Given the description of an element on the screen output the (x, y) to click on. 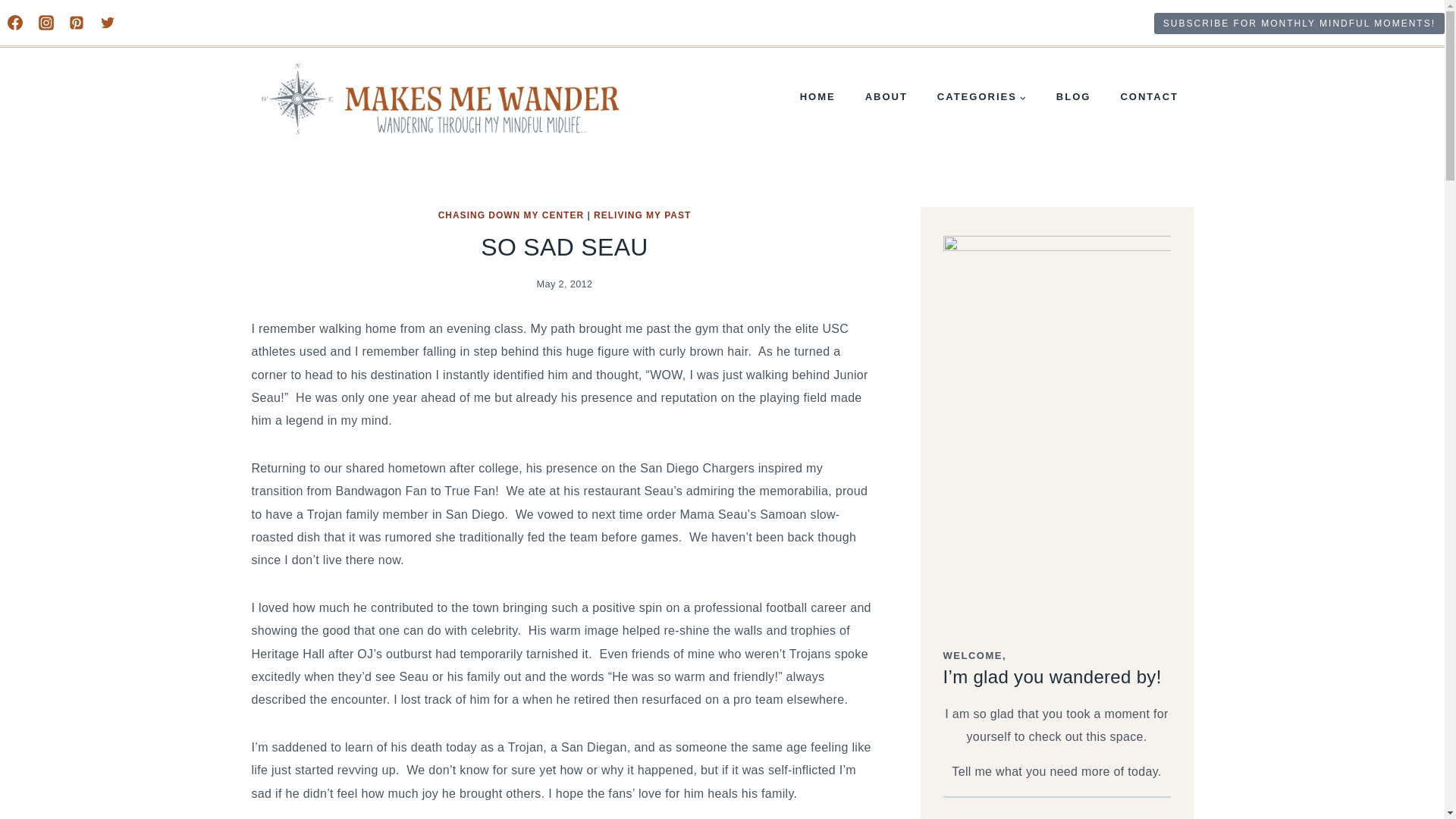
CATEGORIES (981, 97)
CONTACT (1149, 97)
CHASING DOWN MY CENTER (510, 214)
BLOG (1073, 97)
HOME (817, 97)
ABOUT (885, 97)
RELIVING MY PAST (642, 214)
